Given the description of an element on the screen output the (x, y) to click on. 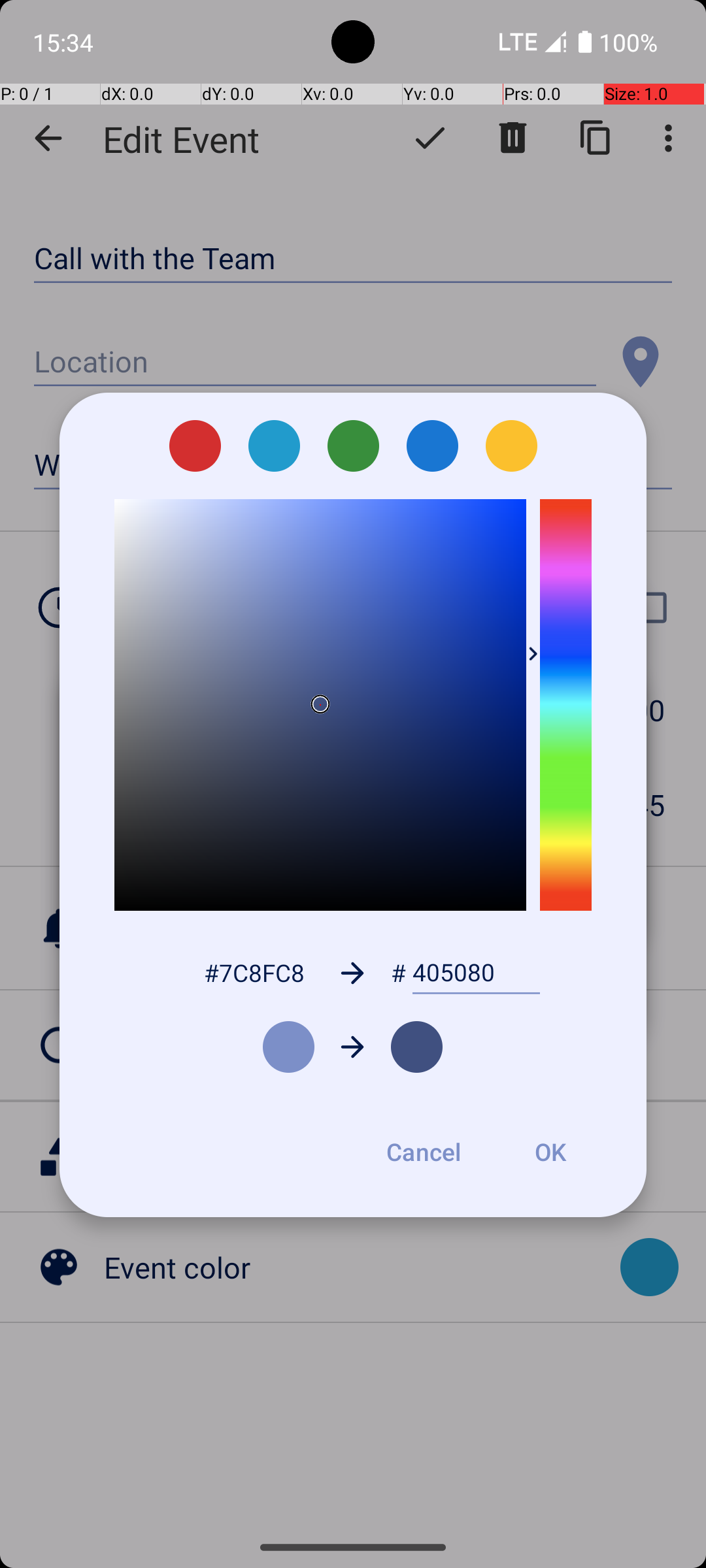
#7C8FC8 Element type: android.widget.TextView (254, 972)
405080 Element type: android.widget.EditText (475, 972)
